Given the description of an element on the screen output the (x, y) to click on. 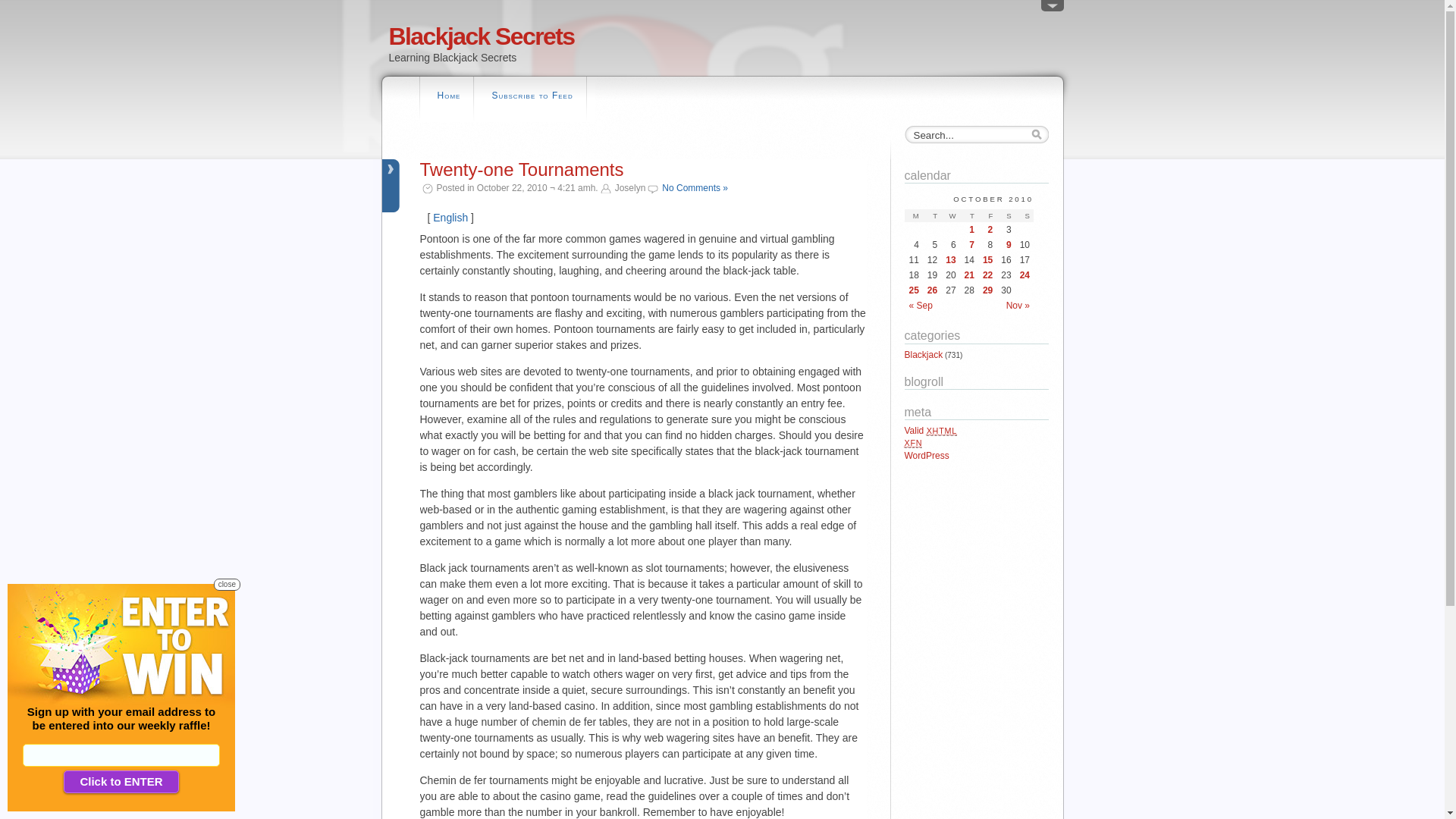
9 Element type: text (1005, 244)
22 Element type: text (987, 274)
21 Element type: text (969, 274)
WordPress Element type: text (925, 455)
29 Element type: text (987, 289)
Subscribe to Feed Element type: text (531, 97)
26 Element type: text (932, 289)
Valid XHTML Element type: text (930, 430)
Blackjack Element type: text (922, 354)
7 Element type: text (969, 244)
13 Element type: text (950, 259)
2 Element type: text (987, 229)
English Element type: text (450, 217)
Blackjack Secrets Element type: text (481, 36)
XFN Element type: text (912, 442)
1 Element type: text (969, 229)
15 Element type: text (987, 259)
Users Element type: hover (1052, 8)
Home Element type: text (448, 97)
Click to ENTER Element type: text (120, 781)
25 Element type: text (913, 289)
24 Element type: text (1024, 274)
